Given the description of an element on the screen output the (x, y) to click on. 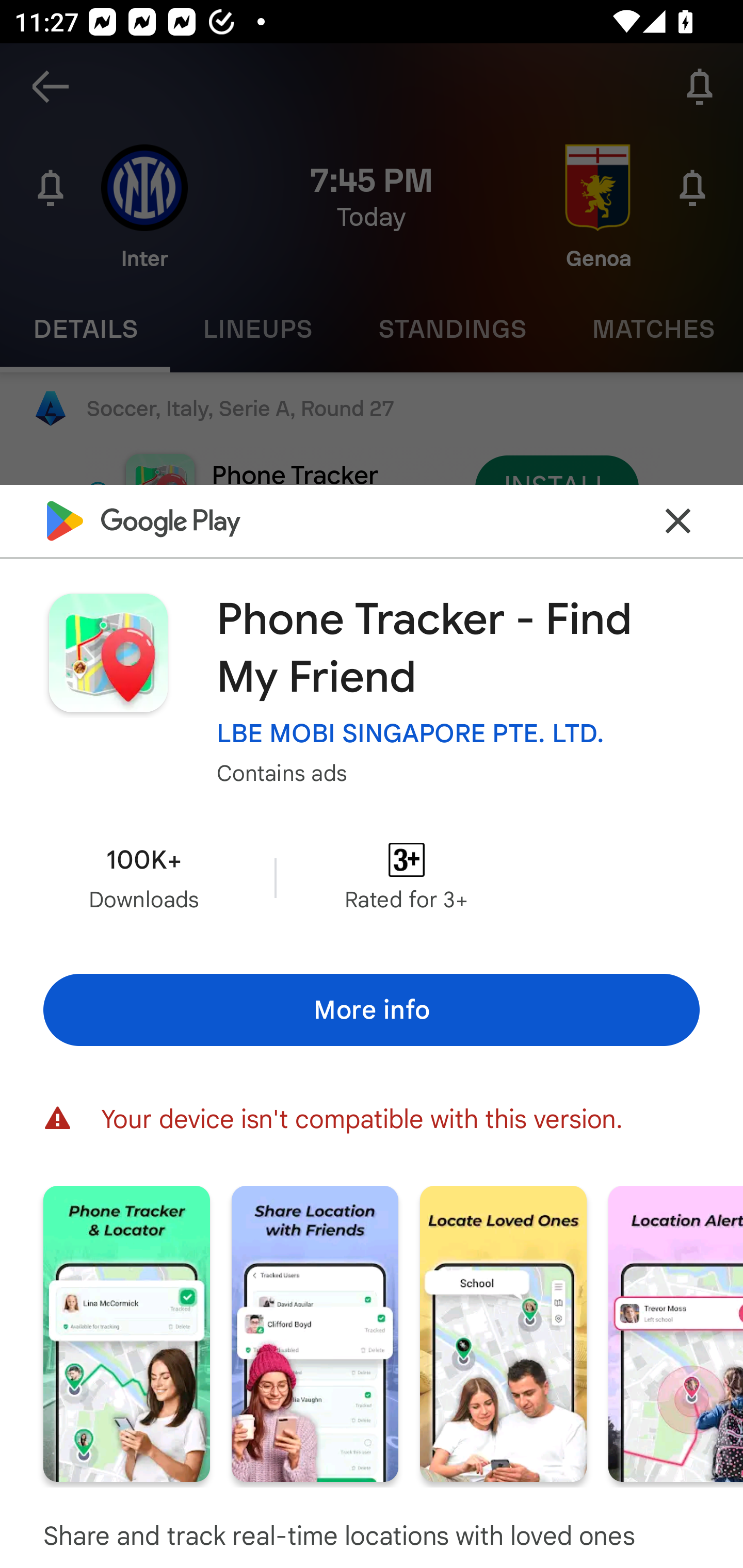
Close (677, 520)
LBE MOBI SINGAPORE PTE. LTD. (410, 732)
More info (371, 1009)
Screenshot "1" of "5" (126, 1333)
Screenshot "2" of "5" (314, 1333)
Screenshot "3" of "5" (502, 1333)
